Given the description of an element on the screen output the (x, y) to click on. 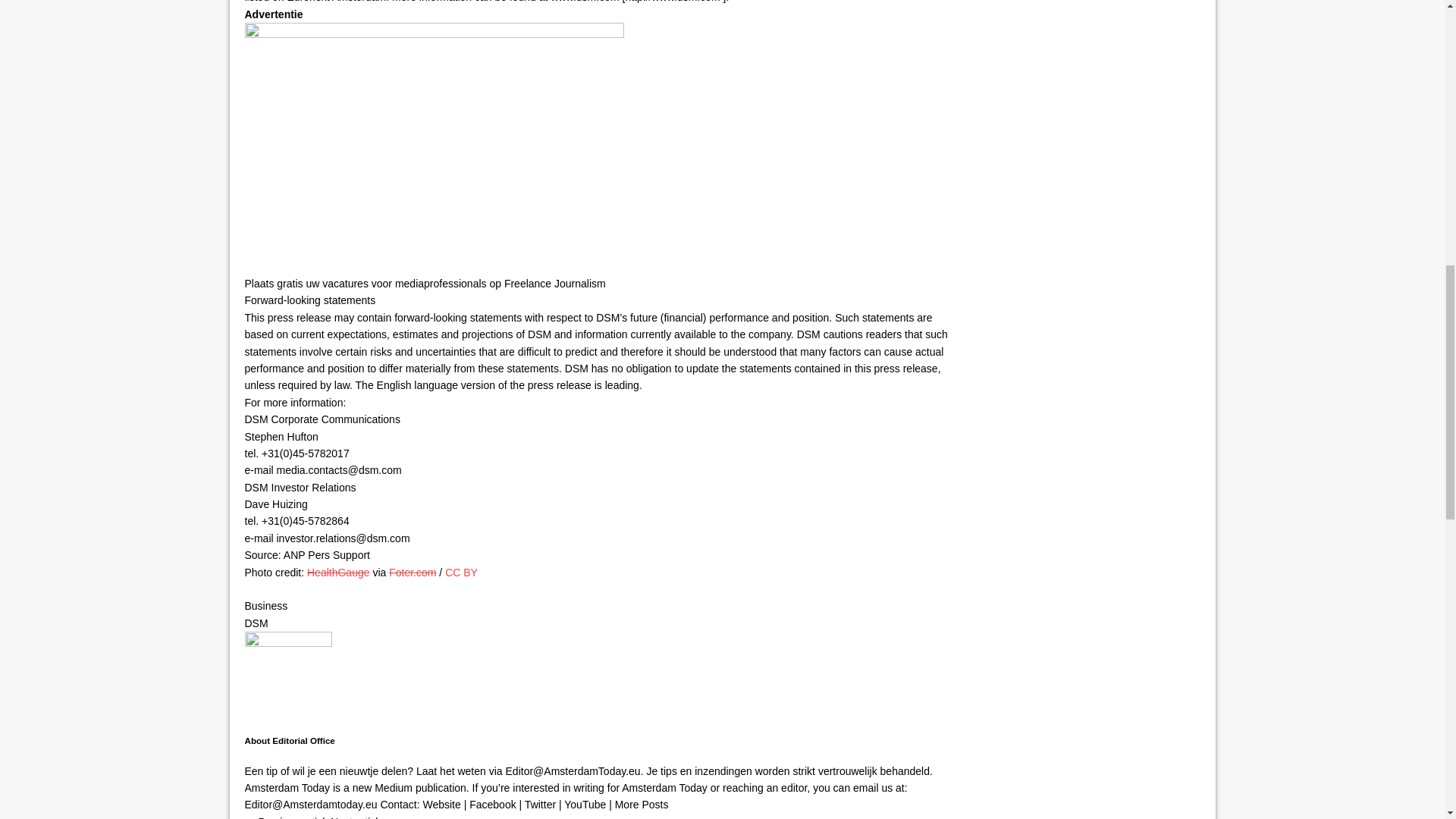
Follow Editorial Office on Facebook (491, 804)
More articles written by Editorial Office (641, 804)
Follow Editorial Office on YouTube (584, 804)
Visit the website of Editorial Office (441, 804)
Follow Editorial Office on Twitter (540, 804)
